Given the description of an element on the screen output the (x, y) to click on. 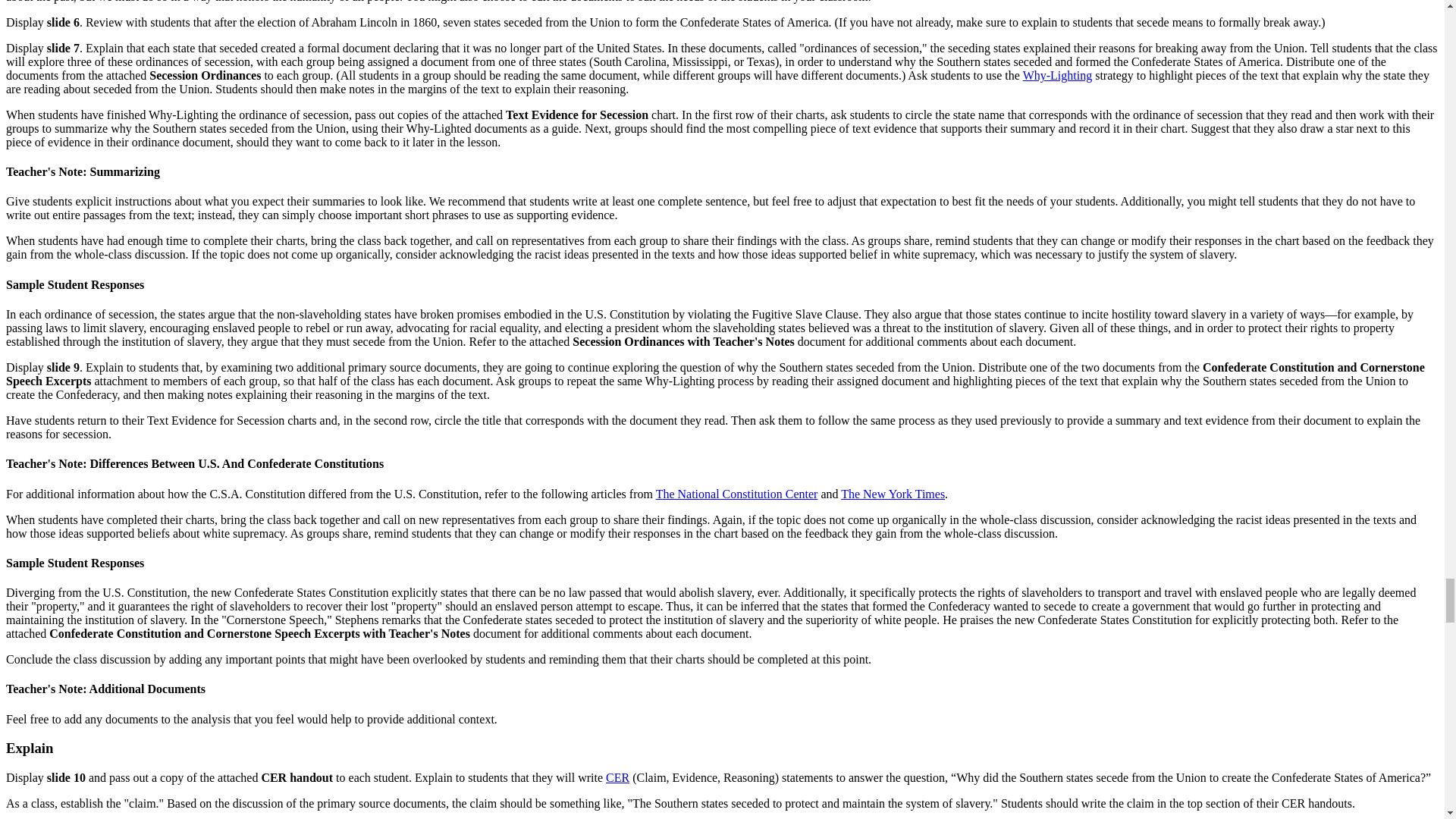
The National Constitution Center (737, 492)
Why-Lighting (1058, 74)
CER (616, 777)
The New York Times (892, 492)
